Given the description of an element on the screen output the (x, y) to click on. 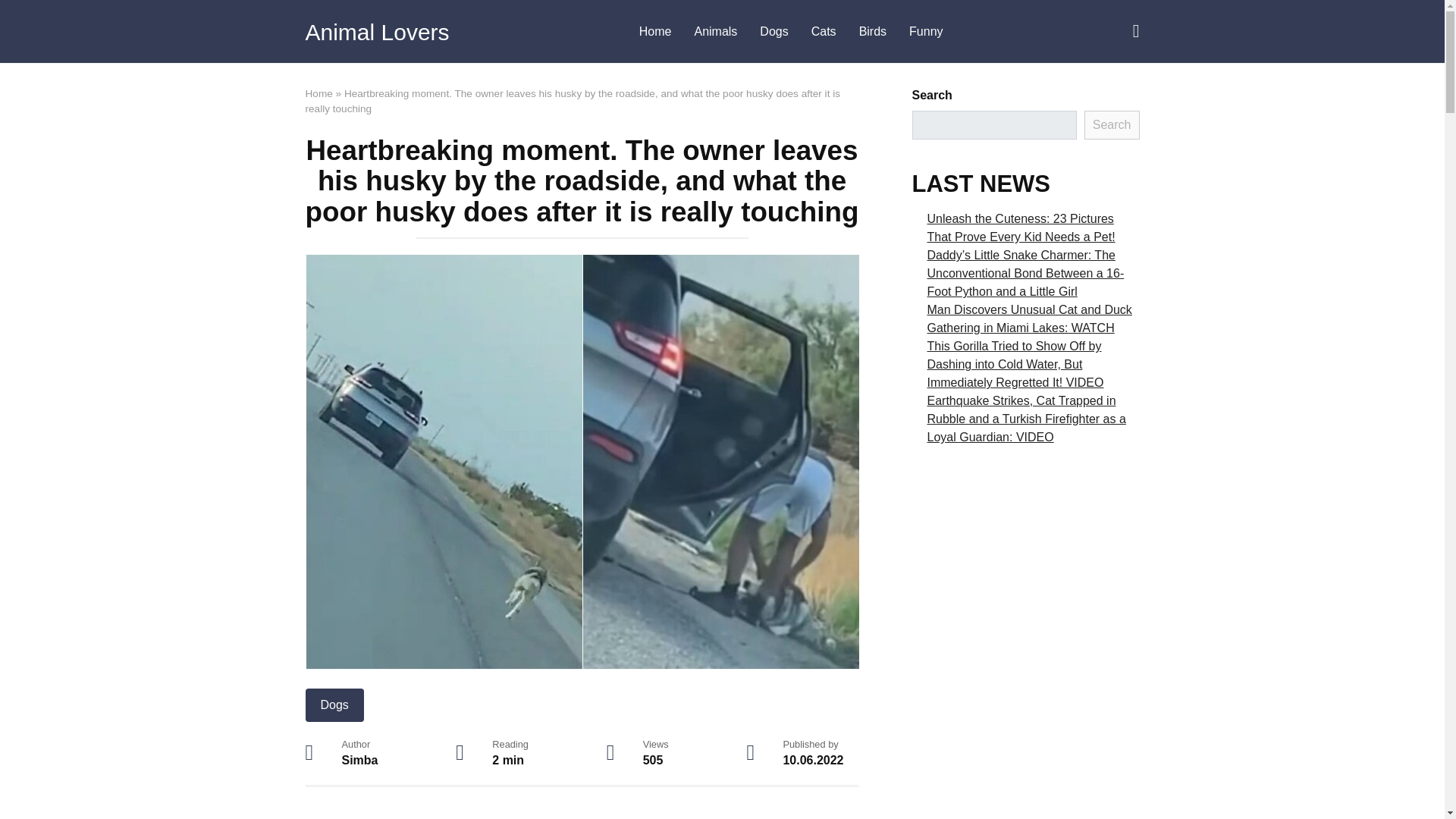
Home (654, 31)
Dogs (773, 31)
Cats (823, 31)
Search (1112, 124)
Animal Lovers (376, 32)
Advertisement (581, 814)
Birds (872, 31)
Animals (715, 31)
Funny (925, 31)
Dogs (333, 704)
Home (317, 93)
